Given the description of an element on the screen output the (x, y) to click on. 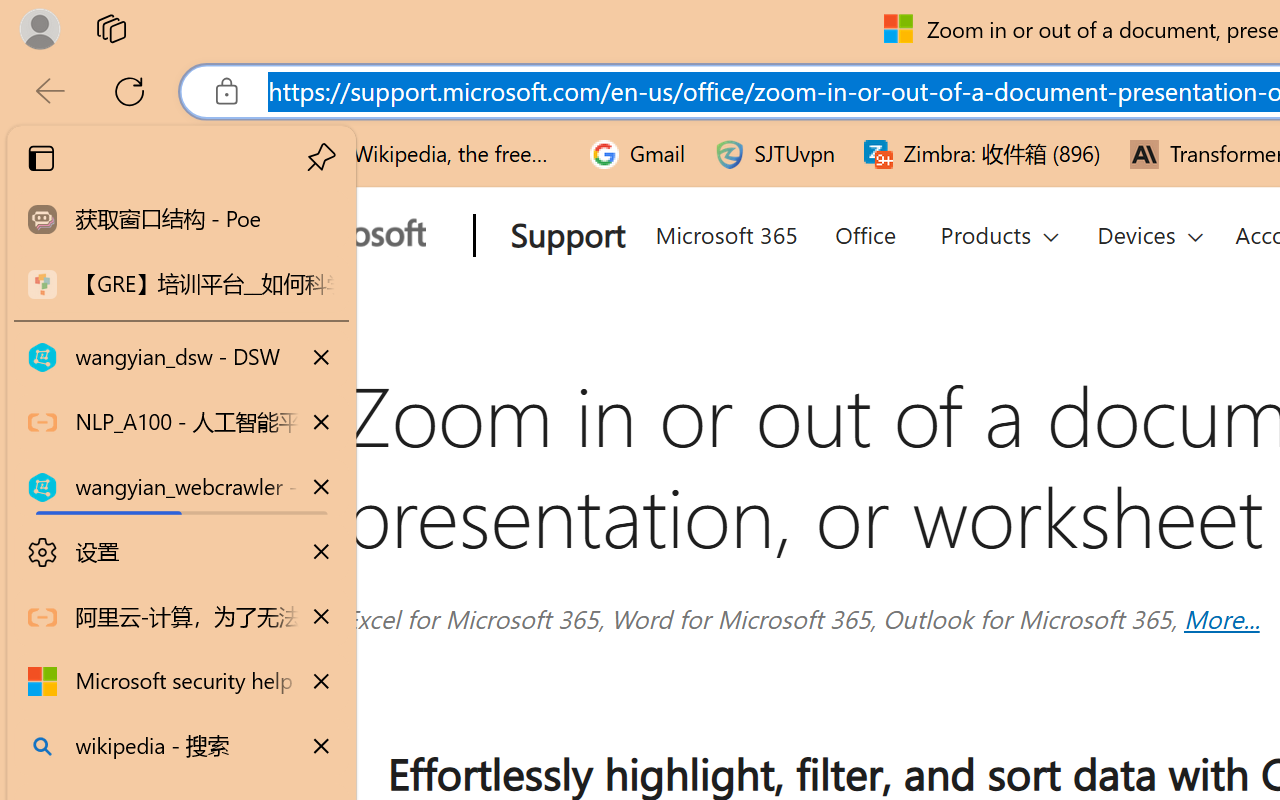
Microsoft (335, 237)
